Given the description of an element on the screen output the (x, y) to click on. 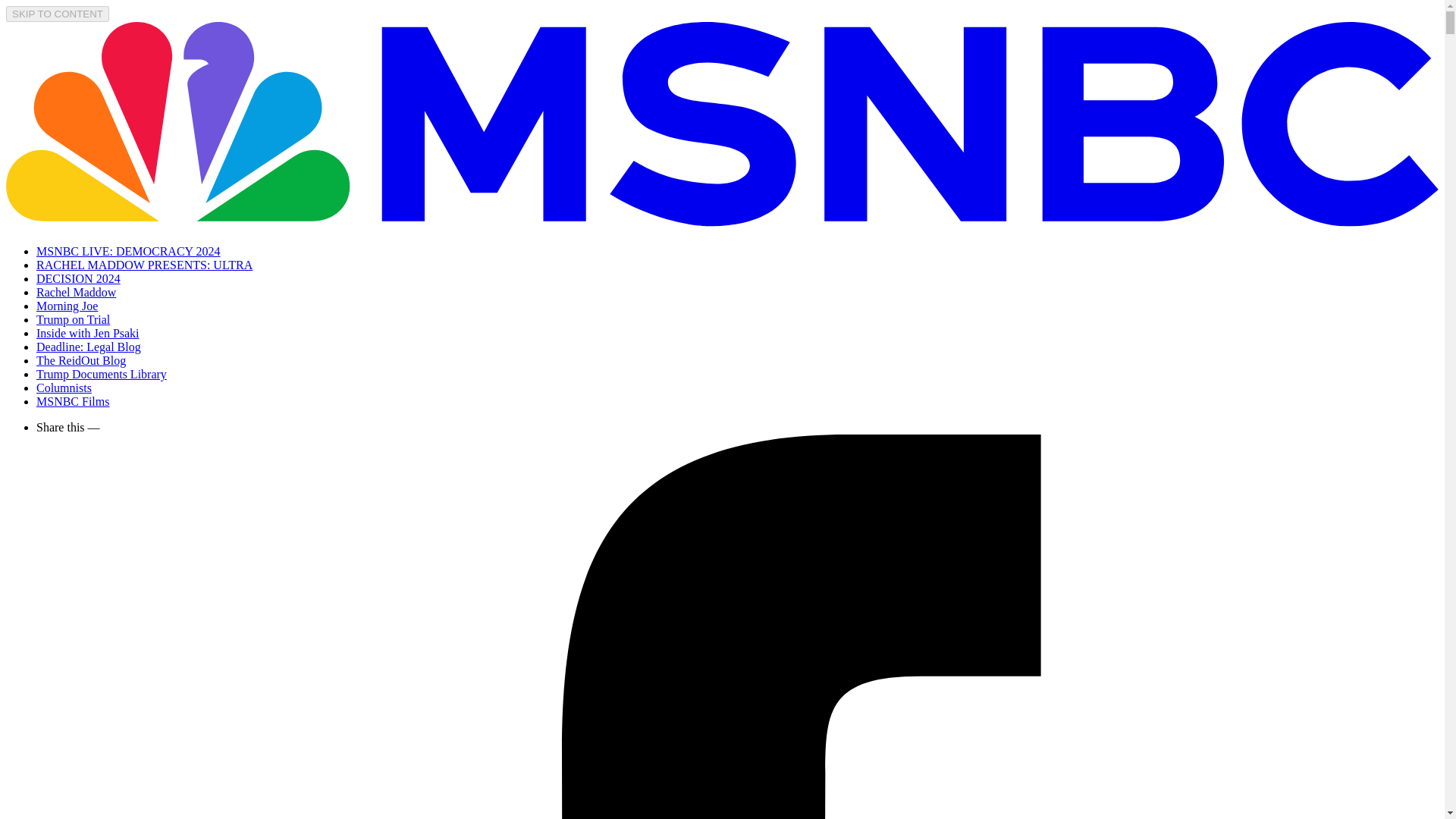
Trump on Trial (73, 318)
MSNBC LIVE: DEMOCRACY 2024 (128, 250)
The ReidOut Blog (80, 359)
Trump Documents Library (101, 373)
RACHEL MADDOW PRESENTS: ULTRA (143, 264)
MSNBC Films (72, 400)
Rachel Maddow (76, 291)
Columnists (63, 387)
DECISION 2024 (78, 278)
Deadline: Legal Blog (88, 346)
Inside with Jen Psaki (87, 332)
SKIP TO CONTENT (57, 13)
Morning Joe (66, 305)
